Given the description of an element on the screen output the (x, y) to click on. 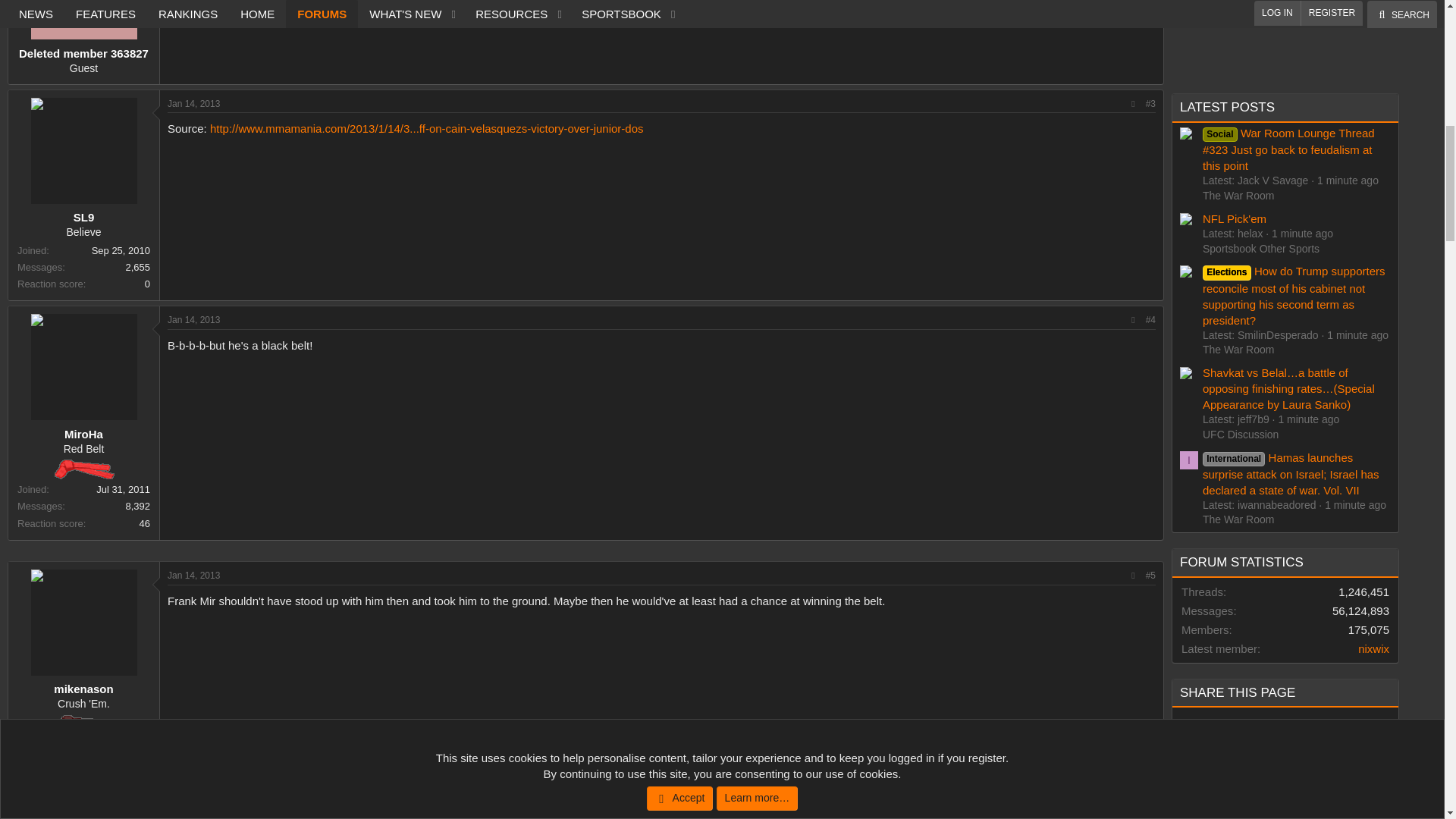
Deleted member 363827 (83, 19)
Jan 14, 2013 at 4:41 AM (193, 575)
Jan 14, 2013 at 4:42 AM (193, 814)
Jan 14, 2013 at 4:39 AM (193, 319)
Jan 14, 2013 at 4:37 AM (193, 103)
